Given the description of an element on the screen output the (x, y) to click on. 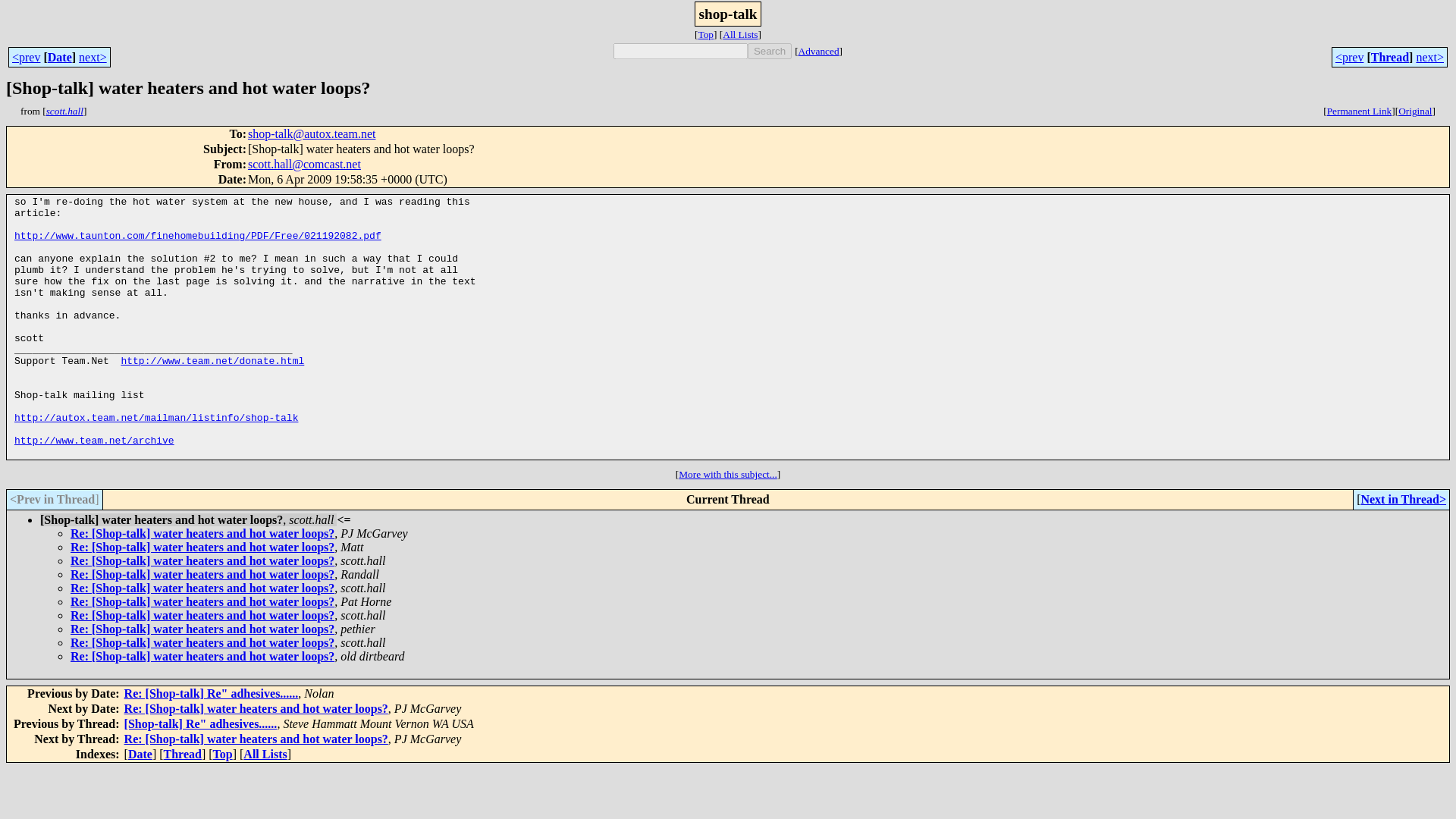
Top (705, 34)
Permanent Link (1358, 111)
Date (59, 56)
Advanced (818, 50)
Top (222, 753)
All Lists (739, 34)
Thread (182, 753)
Search (770, 50)
Thread (1390, 56)
scott.hall (64, 111)
